Given the description of an element on the screen output the (x, y) to click on. 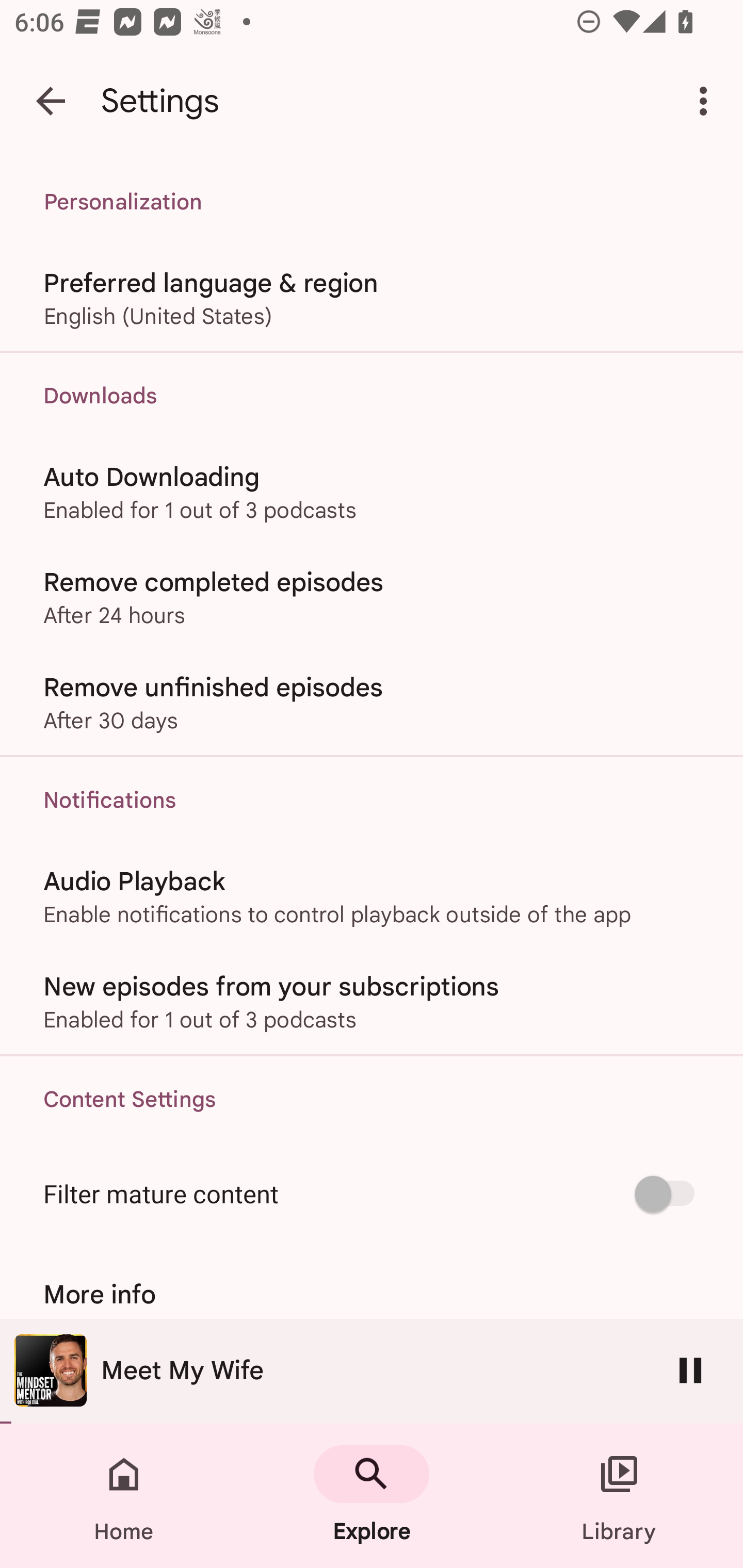
Navigate up (50, 101)
More options (706, 101)
Auto Downloading Enabled for 1 out of 3 podcasts (371, 491)
Remove completed episodes After 24 hours (371, 596)
Remove unfinished episodes After 30 days (371, 702)
More info (371, 1294)
The Mindset Mentor Meet My Wife Pause 152.0 (371, 1370)
Pause (690, 1370)
Home (123, 1495)
Library (619, 1495)
